Given the description of an element on the screen output the (x, y) to click on. 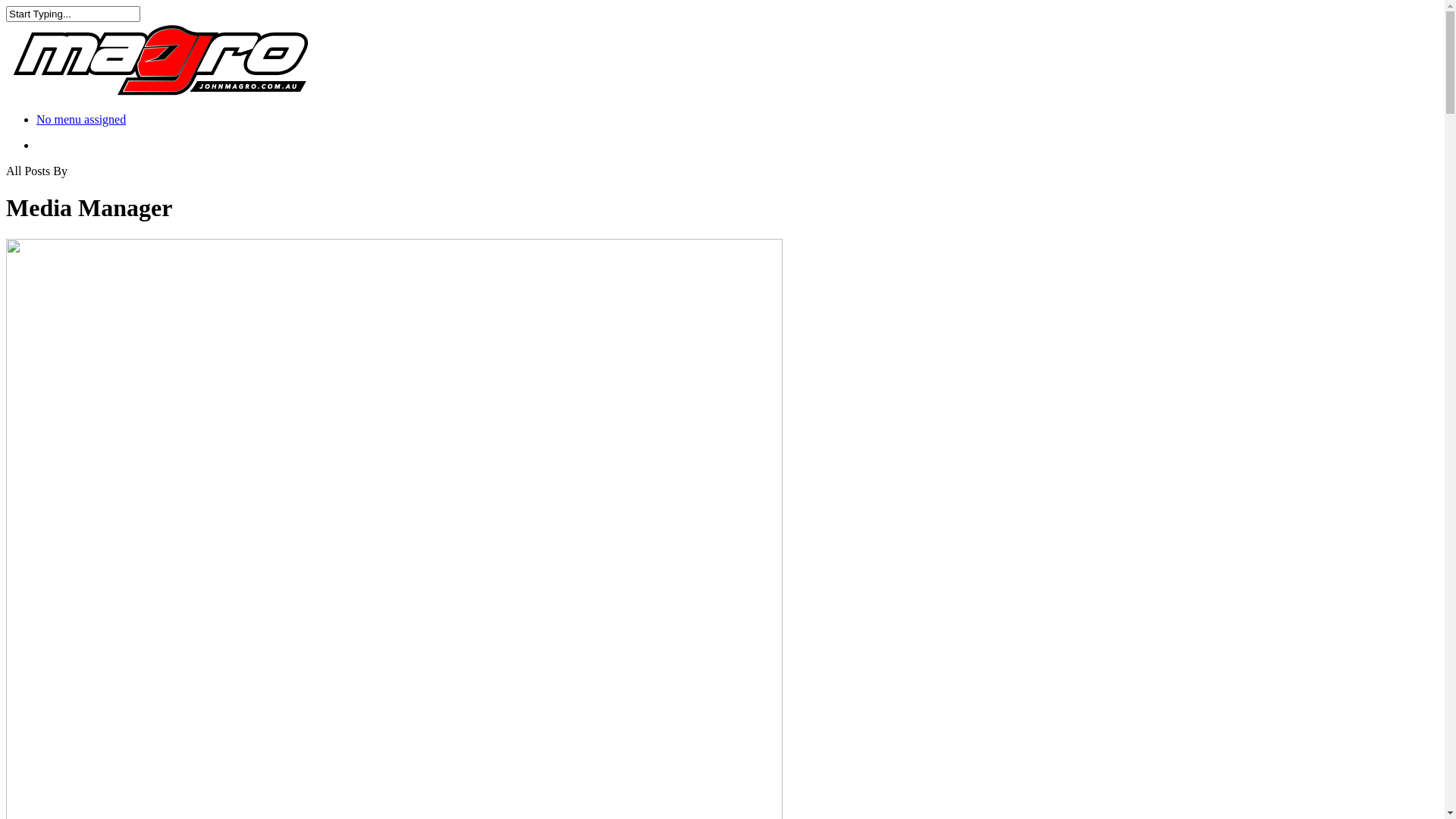
No menu assigned Element type: text (80, 118)
